Given the description of an element on the screen output the (x, y) to click on. 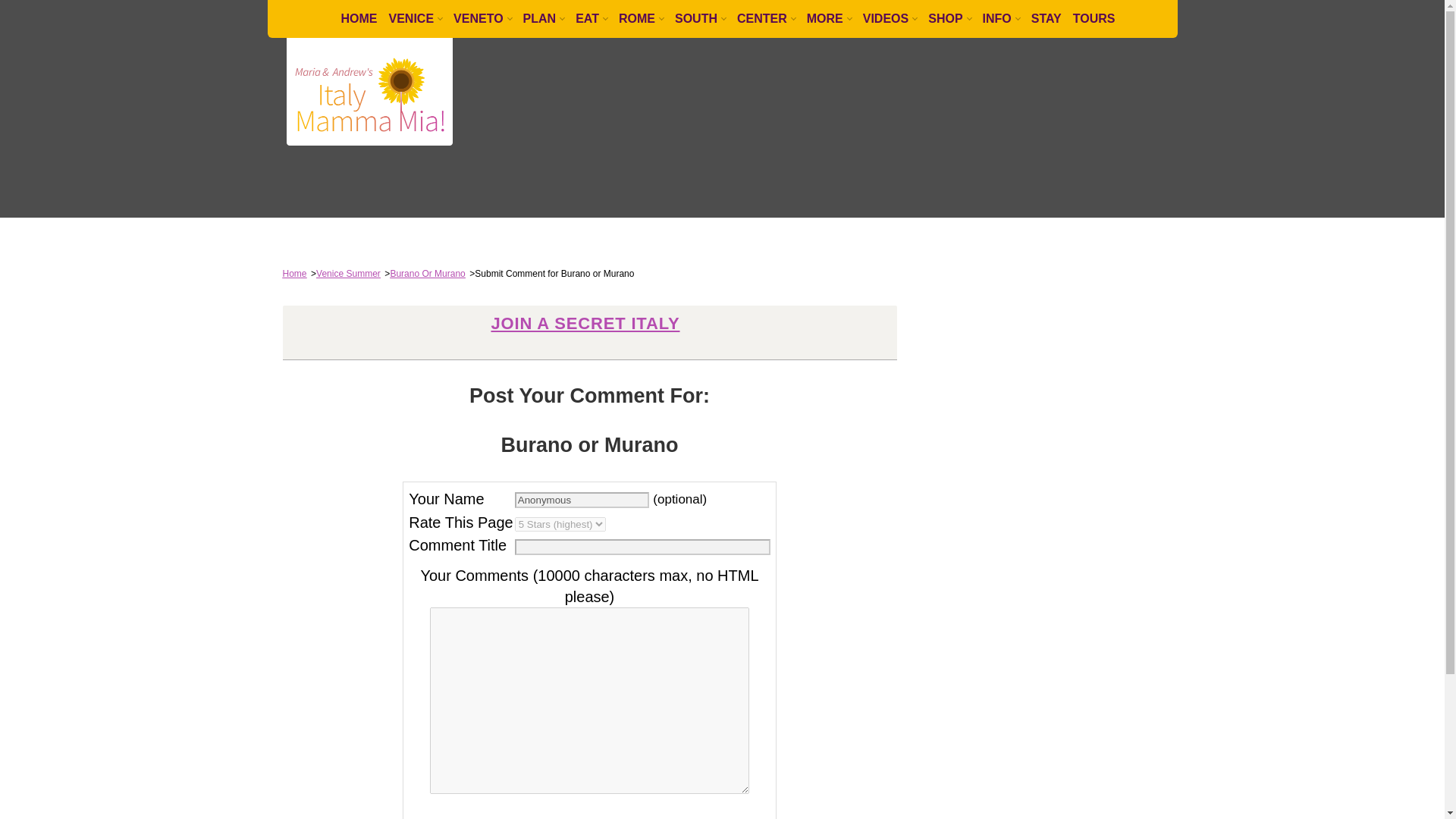
VENICE-ITALY-VENETO.COM (369, 91)
Anonymous (582, 499)
HOME (353, 18)
